Given the description of an element on the screen output the (x, y) to click on. 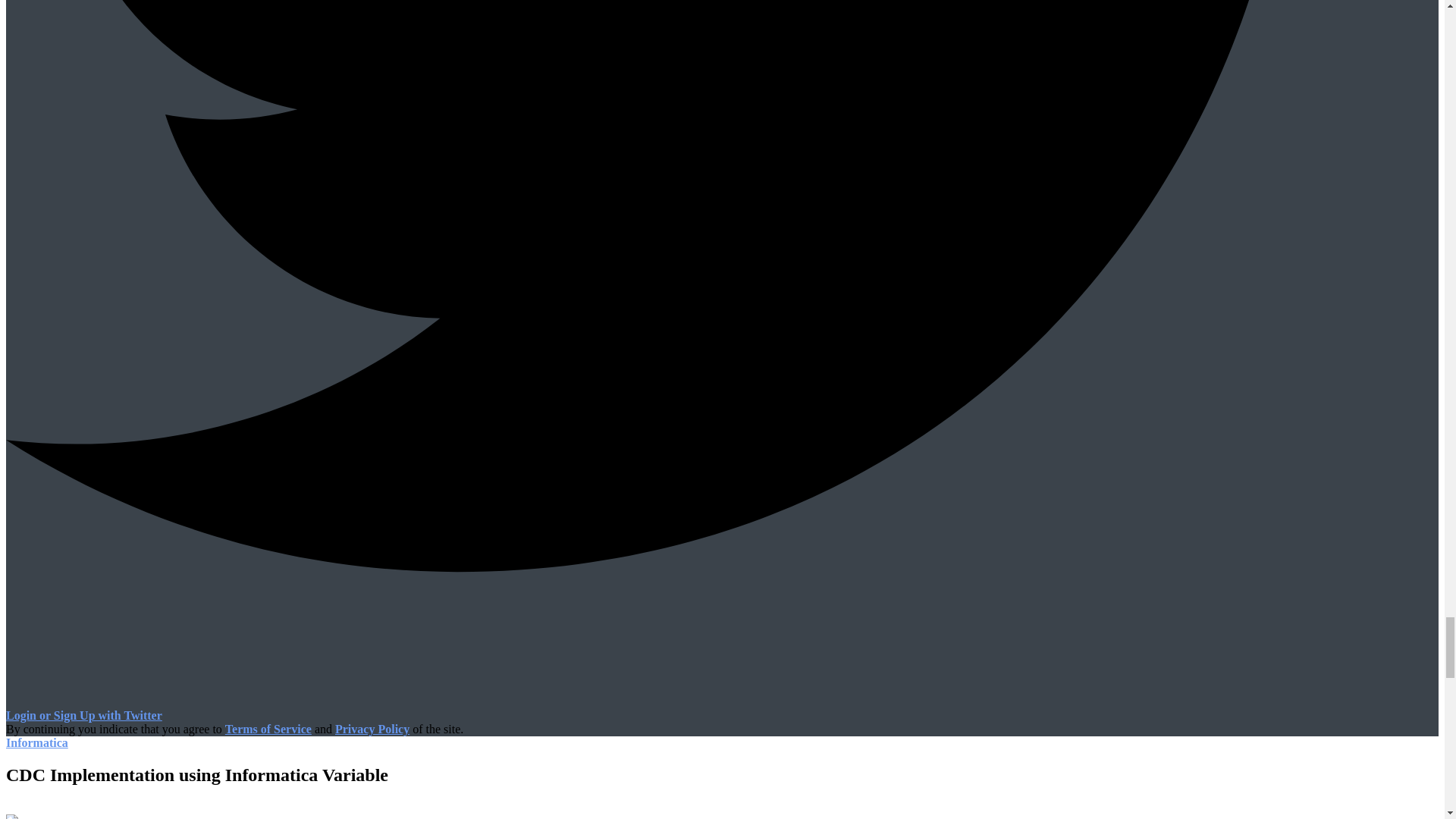
Terms of Service (268, 728)
Privacy Policy (371, 728)
Informatica (36, 742)
